Given the description of an element on the screen output the (x, y) to click on. 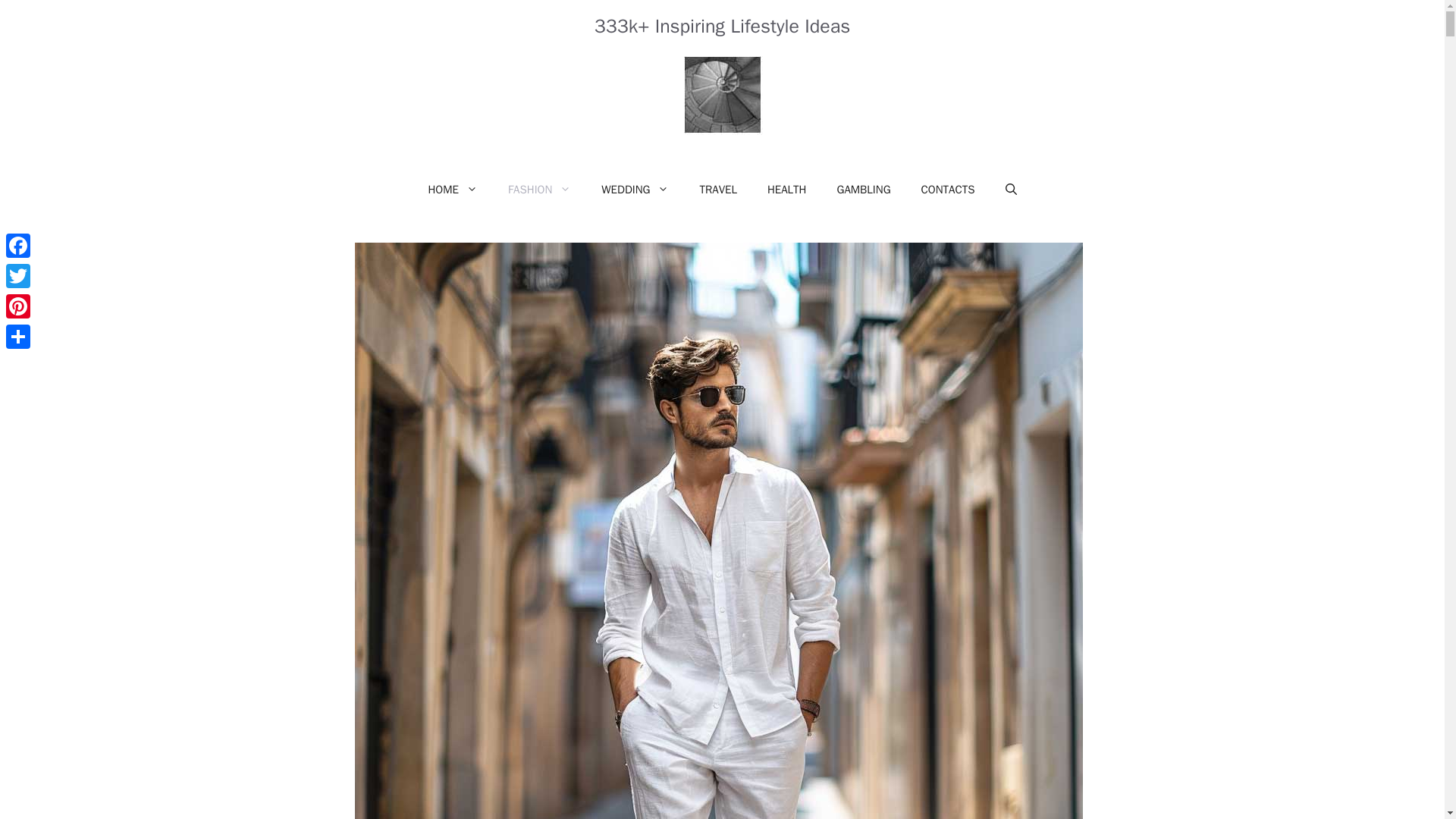
HOME (452, 189)
Pinterest (17, 306)
Facebook (17, 245)
Twitter (17, 276)
